Given the description of an element on the screen output the (x, y) to click on. 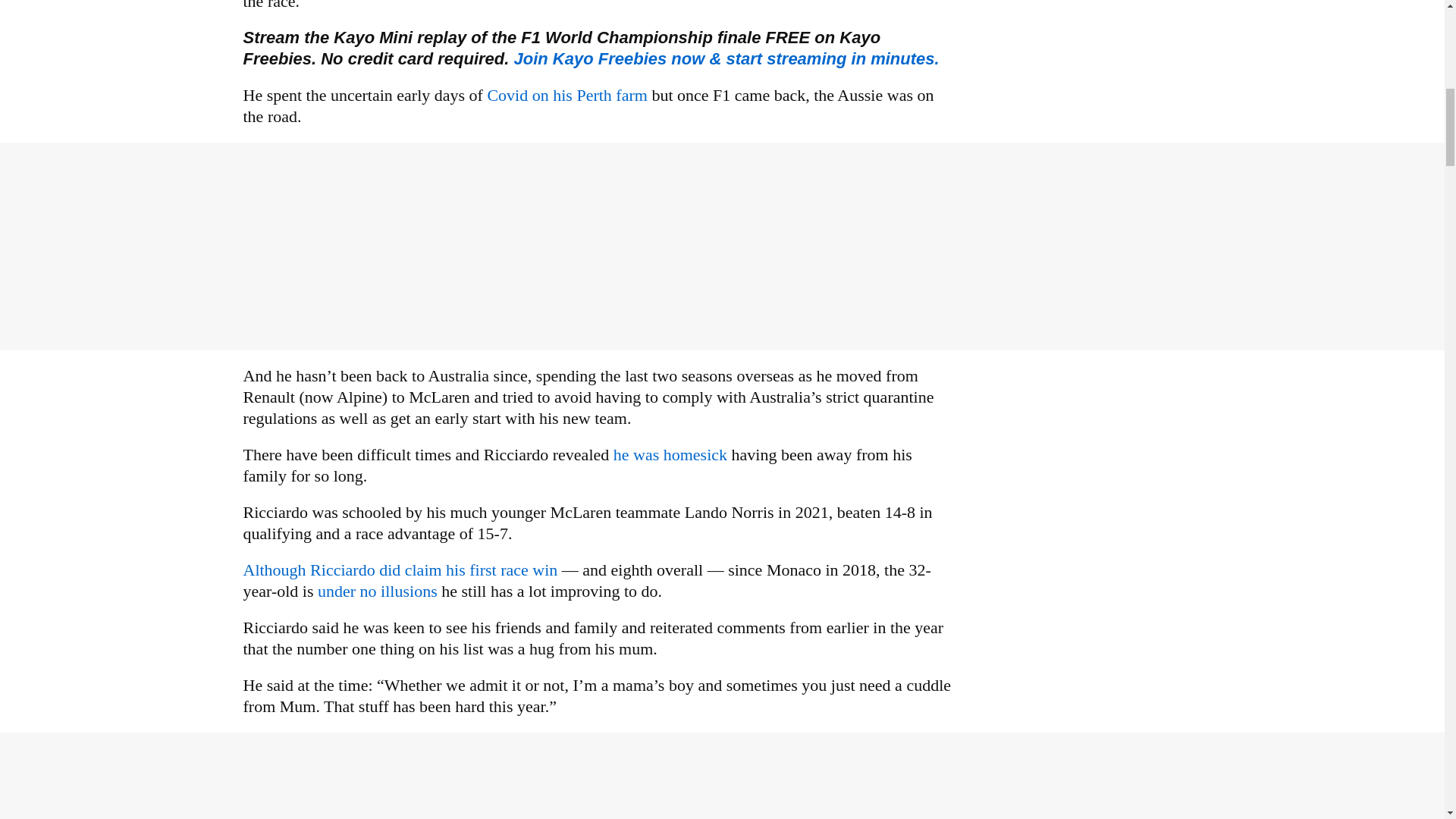
he was homesick (669, 454)
www.news.com.au (401, 569)
www.news.com.au (568, 94)
Covid on his Perth farm (568, 94)
www.news.com.au (669, 454)
servedby.flashtalking.com (726, 58)
Although Ricciardo did claim his first race win (401, 569)
www.news.com.au (379, 590)
under no illusions (379, 590)
